Given the description of an element on the screen output the (x, y) to click on. 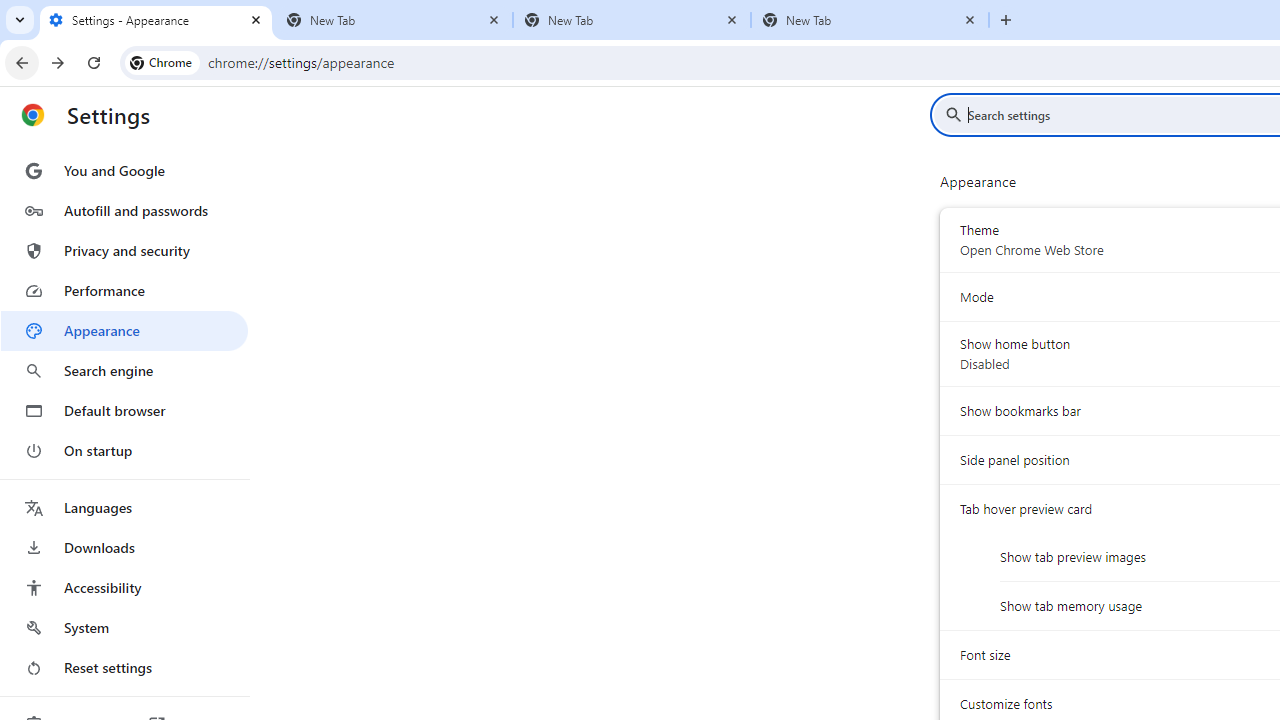
New Tab (632, 20)
Performance (124, 290)
New Tab (870, 20)
On startup (124, 450)
Appearance (124, 331)
Search engine (124, 370)
Reset settings (124, 668)
